Given the description of an element on the screen output the (x, y) to click on. 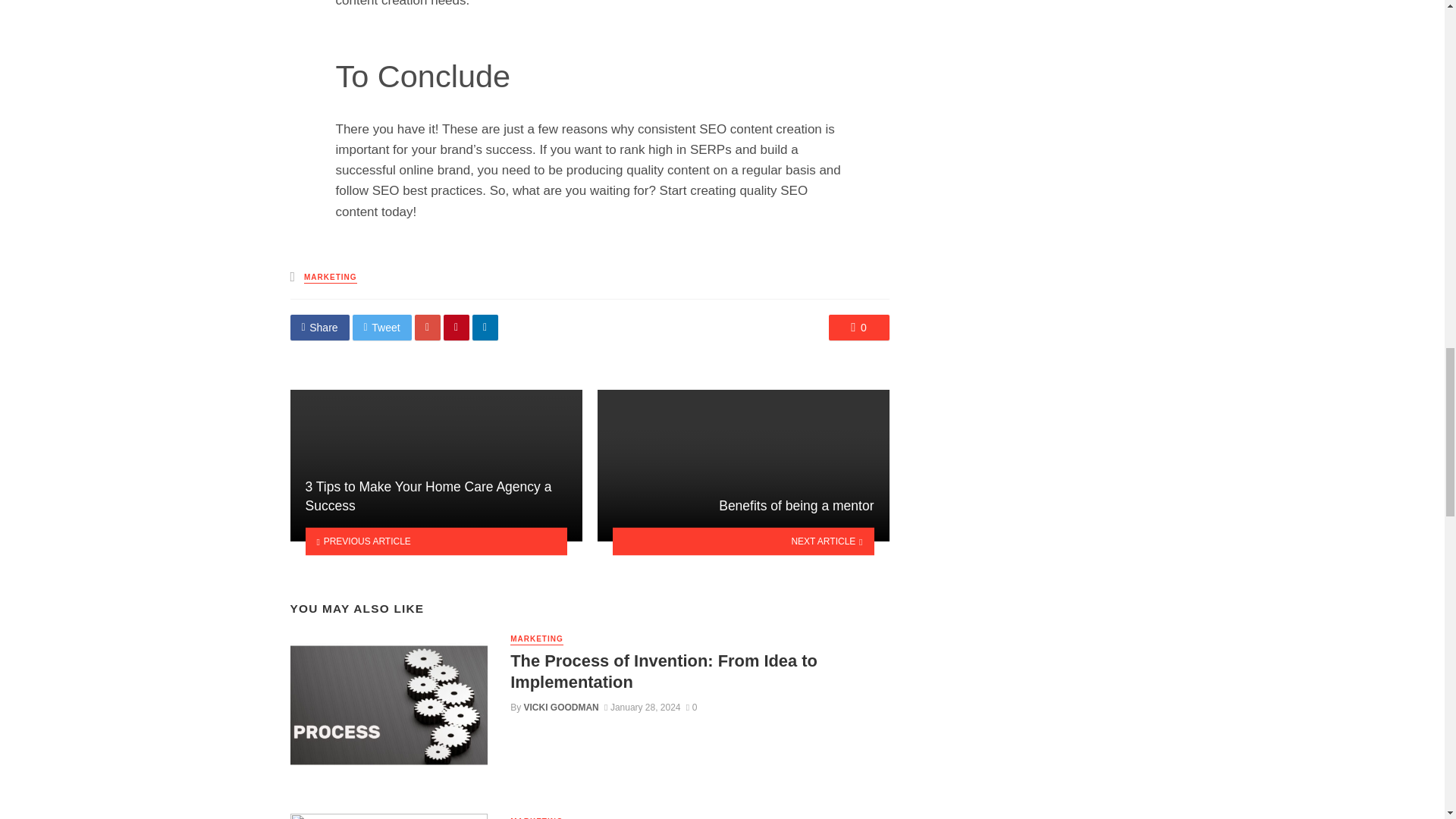
VICKI GOODMAN (561, 706)
Share on Linkedin (484, 327)
Share on Facebook (319, 327)
0 Comments (858, 327)
Share on Twitter (382, 327)
MARKETING (330, 277)
NEXT ARTICLE (742, 541)
0 (858, 327)
Share (319, 327)
Tweet (382, 327)
